Given the description of an element on the screen output the (x, y) to click on. 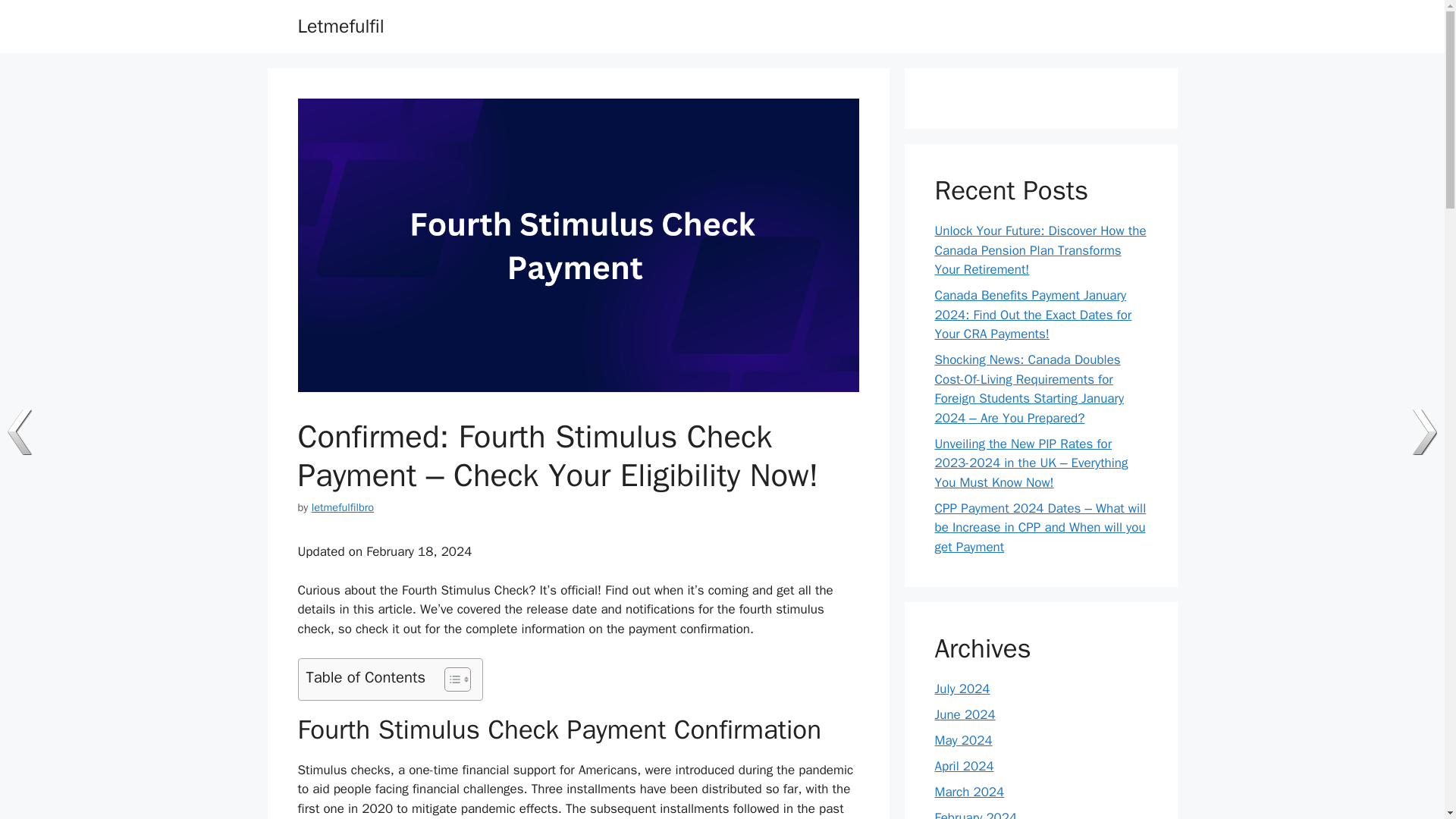
July 2024 (962, 688)
June 2024 (964, 714)
Letmefulfil (340, 25)
March 2024 (969, 791)
May 2024 (962, 740)
February 2024 (975, 814)
View all posts by letmefulfilbro (342, 507)
letmefulfilbro (342, 507)
April 2024 (963, 765)
